Given the description of an element on the screen output the (x, y) to click on. 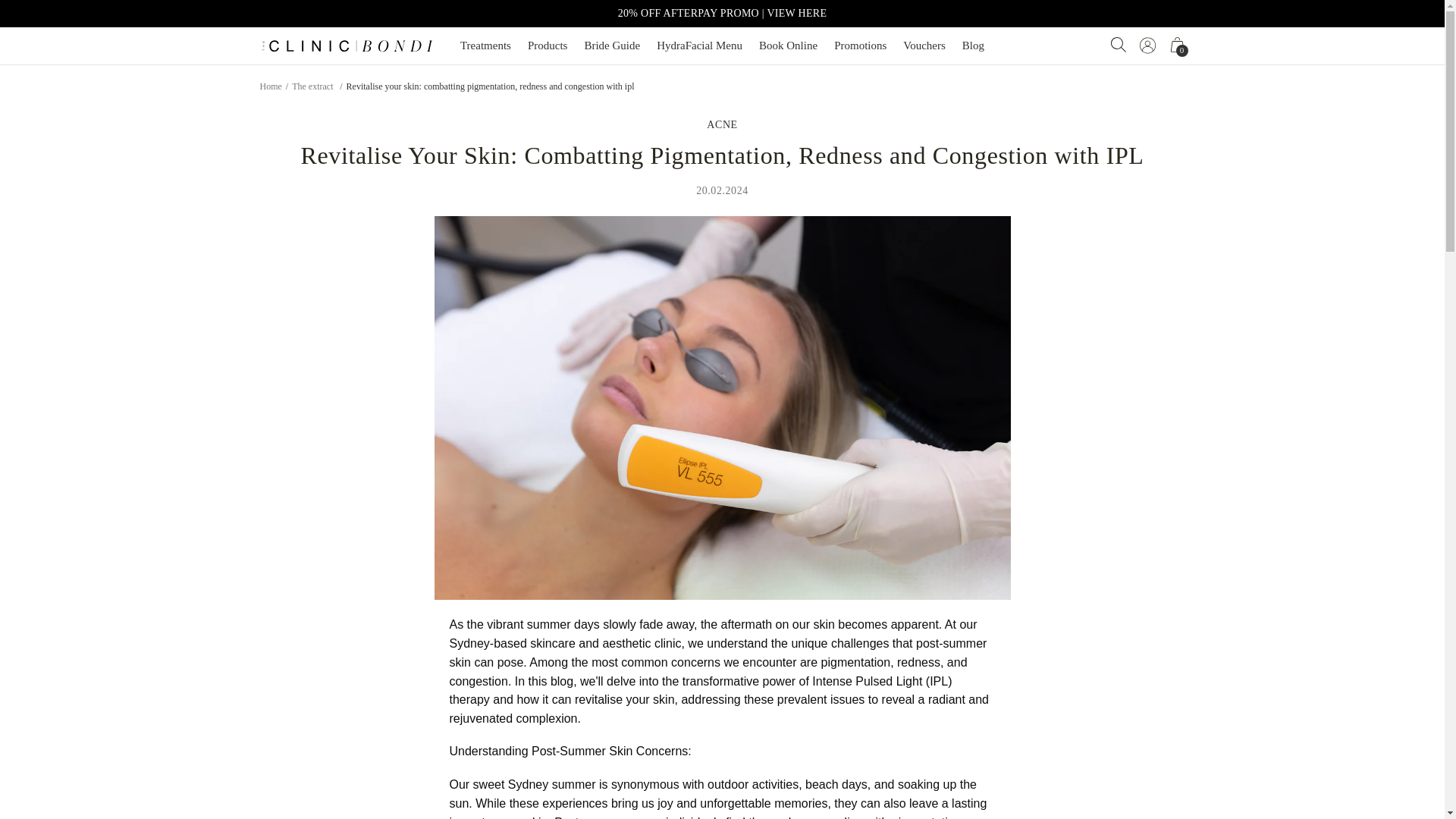
Home (312, 85)
Home (270, 85)
Treatments (485, 45)
